Given the description of an element on the screen output the (x, y) to click on. 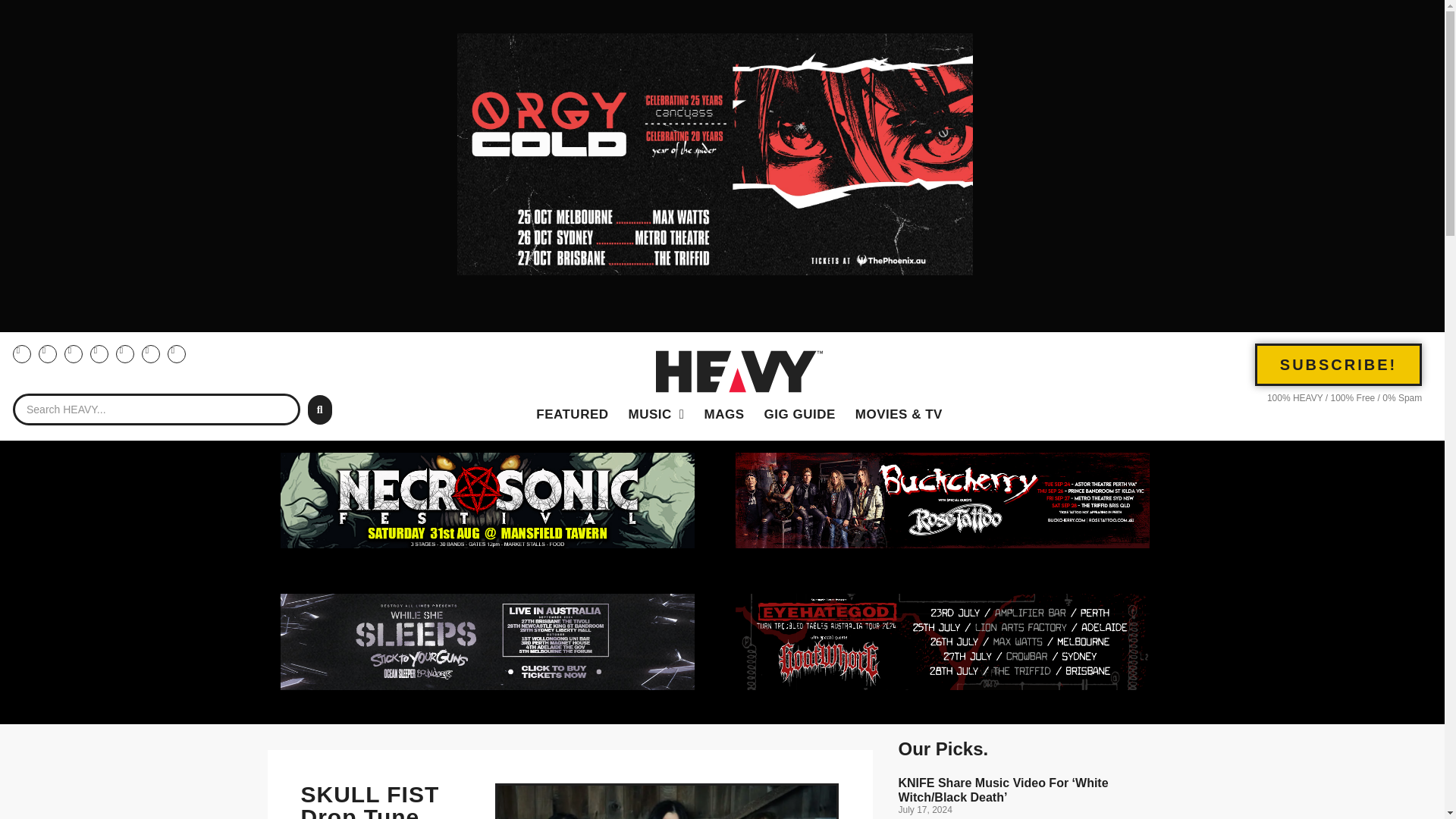
FEATURED (571, 414)
MUSIC (656, 414)
Heavy Music (656, 414)
GIG GUIDE (799, 414)
SUBSCRIBE! (1338, 364)
MAGS (724, 414)
